Given the description of an element on the screen output the (x, y) to click on. 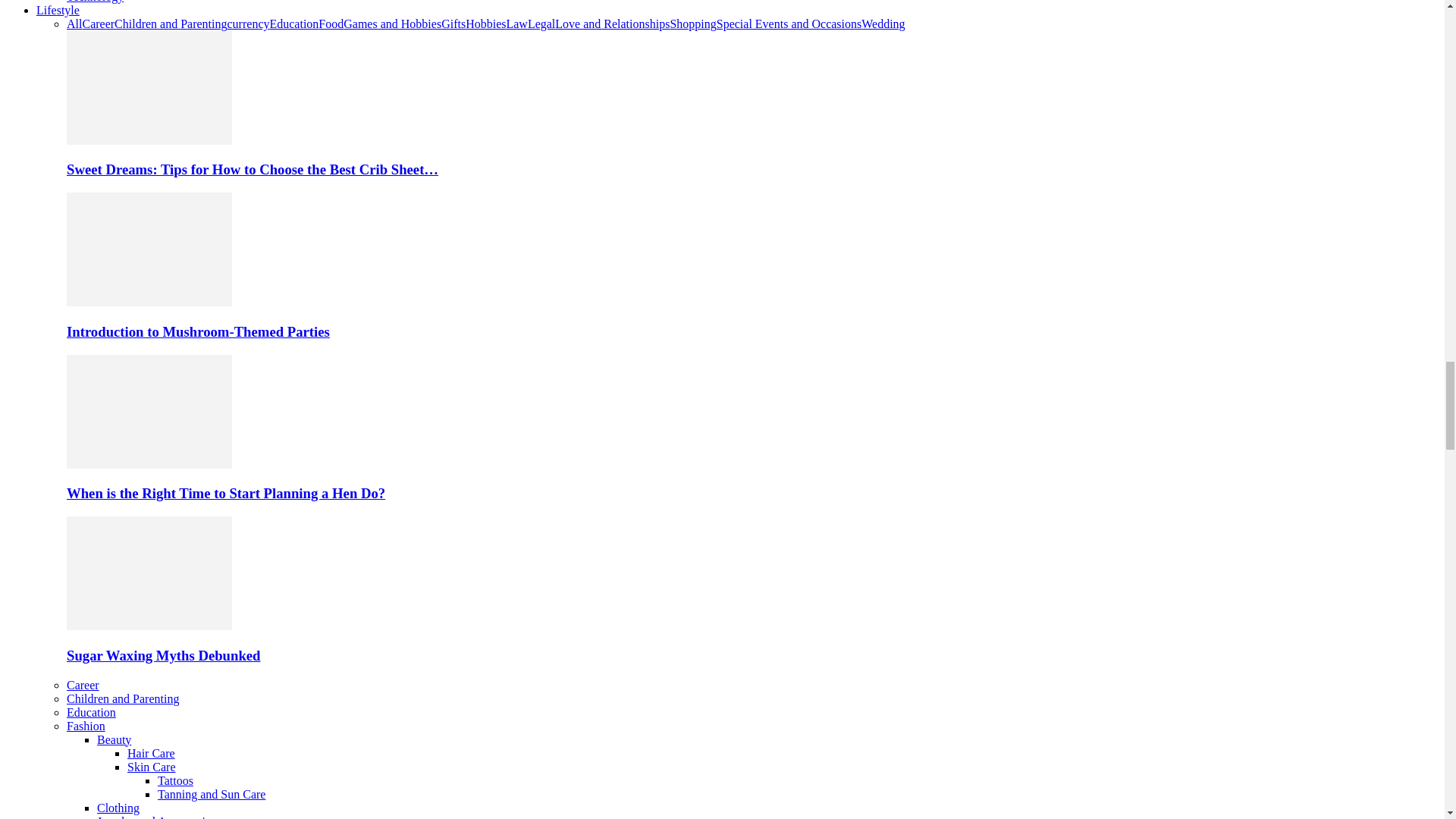
Introduction to Mushroom-Themed Parties (148, 301)
